Given the description of an element on the screen output the (x, y) to click on. 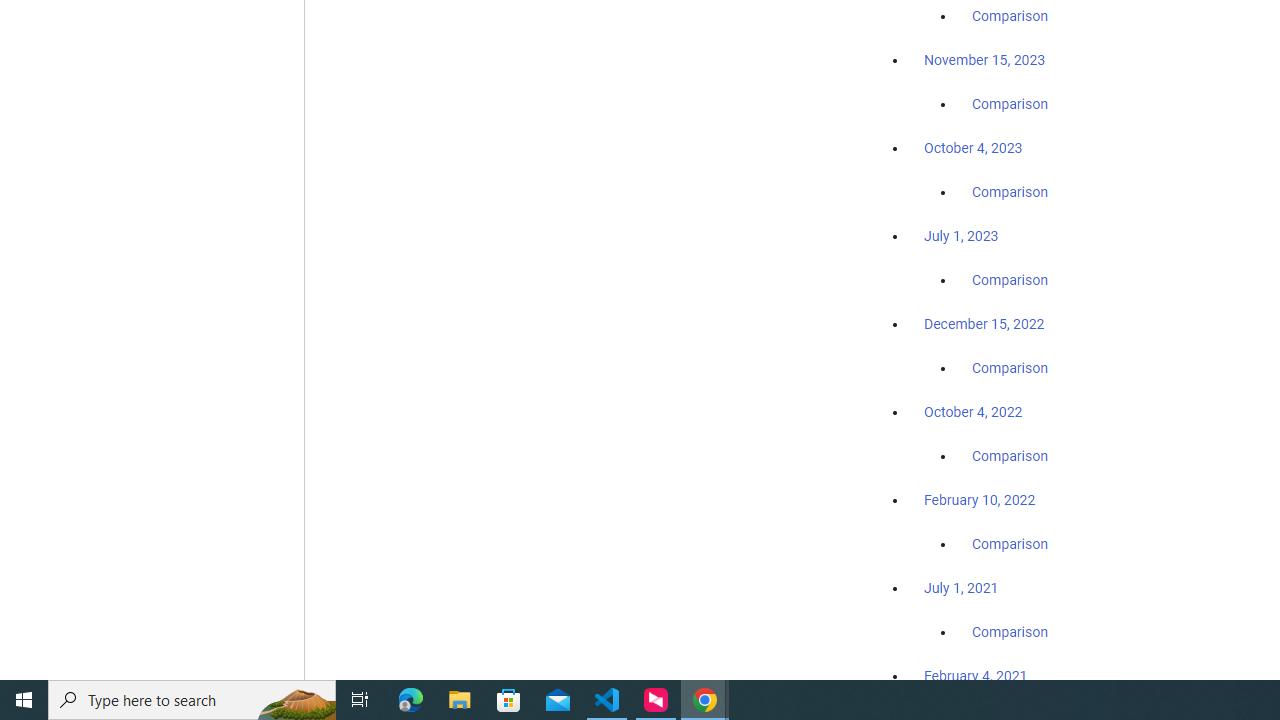
November 15, 2023 (984, 60)
October 4, 2023 (973, 148)
February 4, 2021 (975, 675)
December 15, 2022 (984, 323)
Comparison (1009, 631)
October 4, 2022 (973, 412)
July 1, 2023 (961, 236)
February 10, 2022 (979, 500)
July 1, 2021 (961, 587)
